Given the description of an element on the screen output the (x, y) to click on. 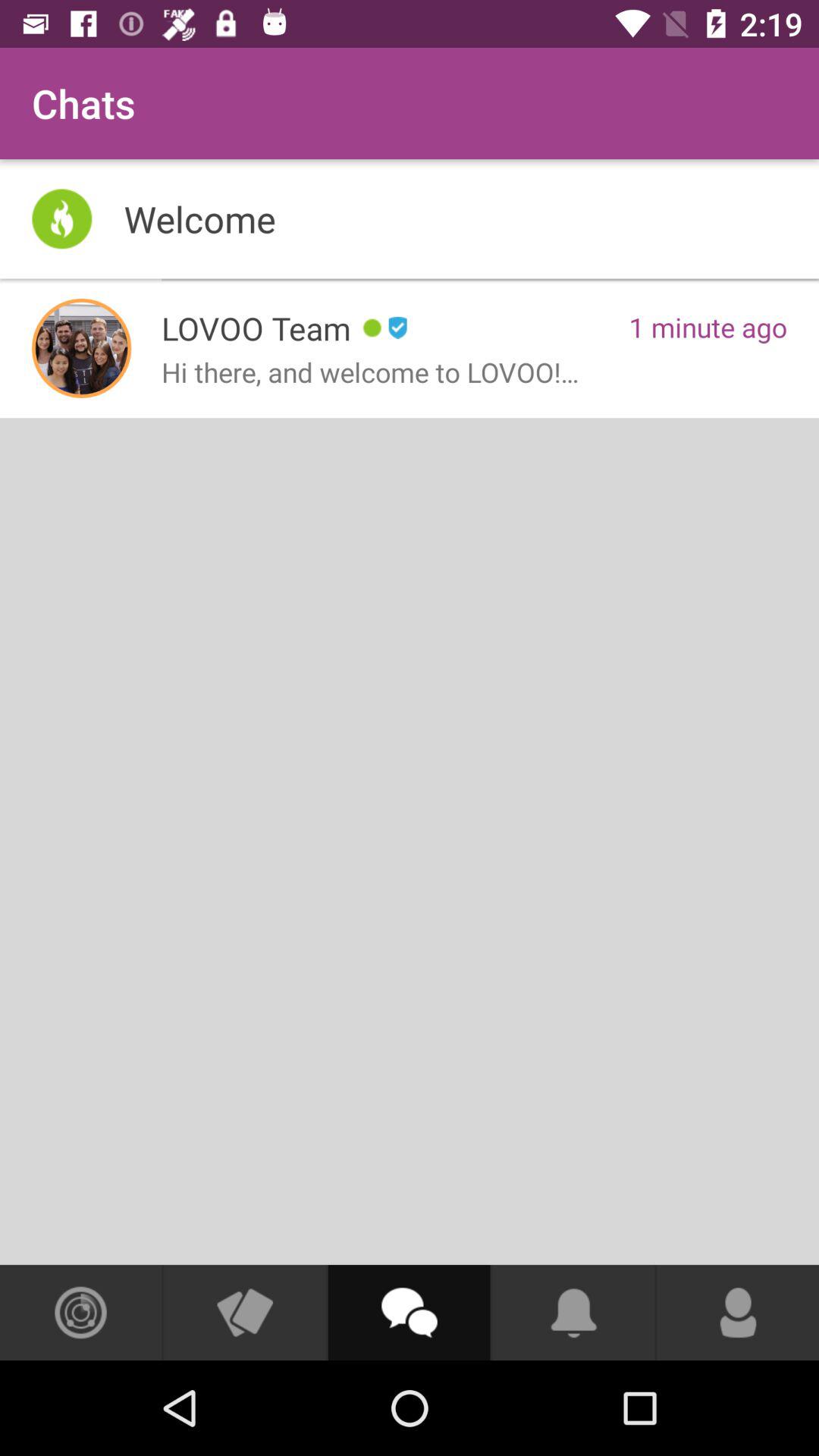
navigate to alerts (573, 1312)
